Given the description of an element on the screen output the (x, y) to click on. 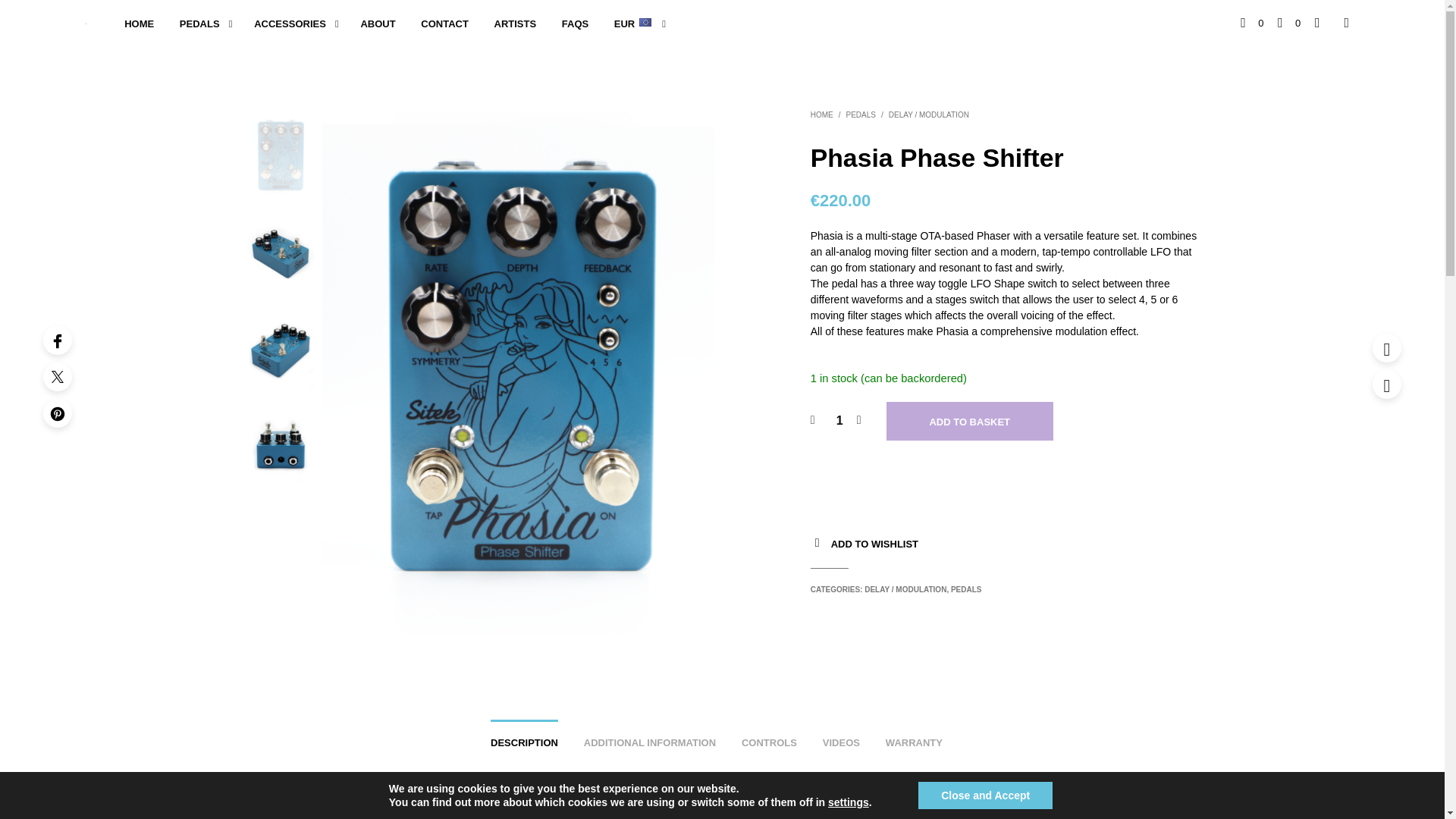
ADD TO BASKET (969, 421)
PEDALS (860, 114)
European Union (644, 22)
ACCESSORIES (290, 23)
PayPal (1004, 473)
ARTISTS (515, 23)
HOME (139, 23)
ABOUT (377, 23)
HOME (821, 114)
0 (1289, 23)
1 (839, 420)
FAQS (574, 23)
CONTACT (444, 23)
EUR  (632, 23)
